Given the description of an element on the screen output the (x, y) to click on. 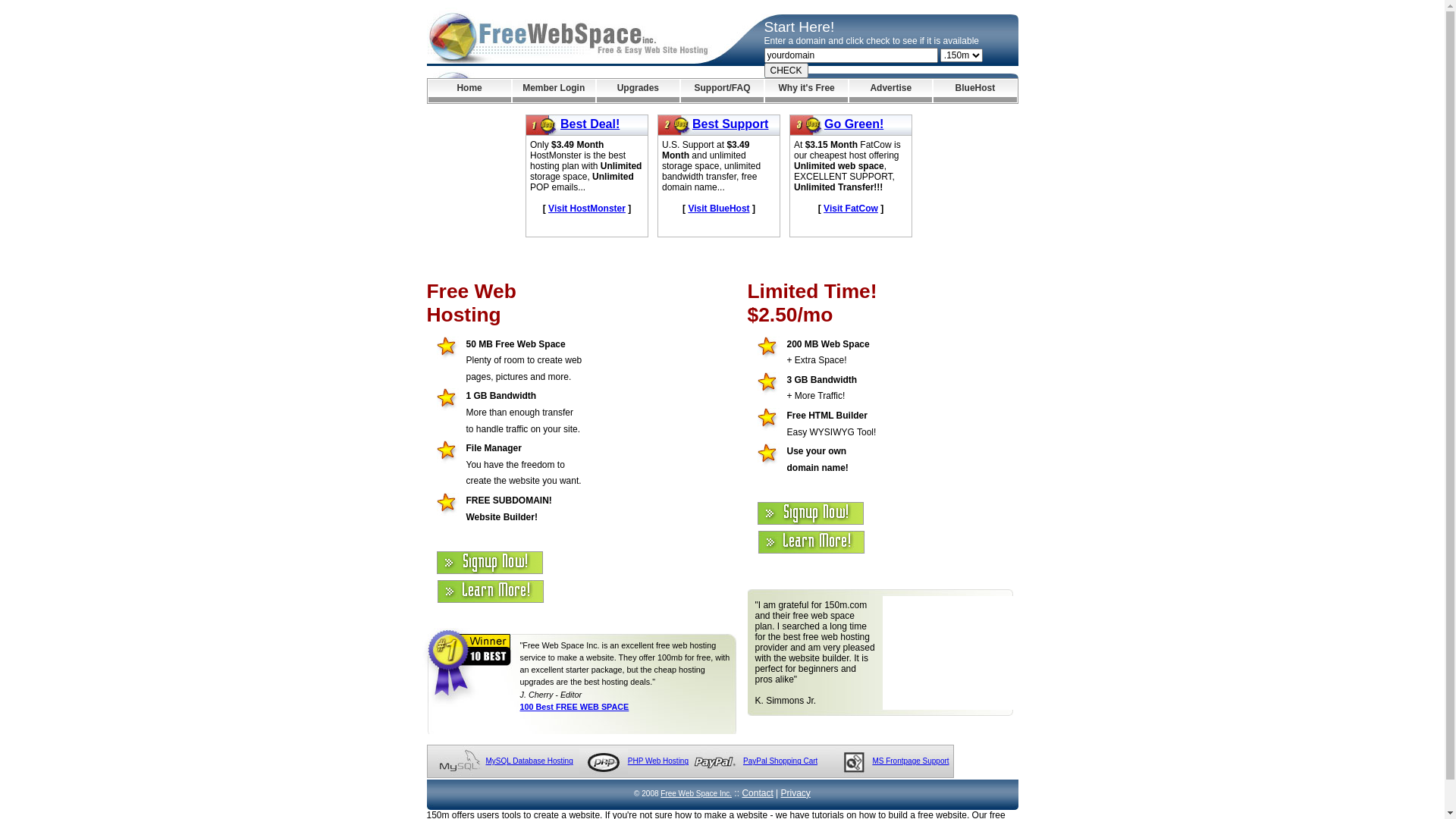
Upgrades Element type: text (637, 90)
CHECK Element type: text (786, 70)
Advertise Element type: text (890, 90)
100 Best FREE WEB SPACE Element type: text (574, 706)
Why it's Free Element type: text (806, 90)
MS Frontpage Support Element type: text (910, 760)
MySQL Database Hosting Element type: text (528, 760)
PayPal Shopping Cart Element type: text (780, 760)
Privacy Element type: text (795, 792)
Home Element type: text (468, 90)
Free Web Space Inc. Element type: text (695, 793)
Member Login Element type: text (553, 90)
BlueHost Element type: text (974, 90)
Support/FAQ Element type: text (721, 90)
Contact Element type: text (756, 792)
PHP Web Hosting Element type: text (657, 760)
